Given the description of an element on the screen output the (x, y) to click on. 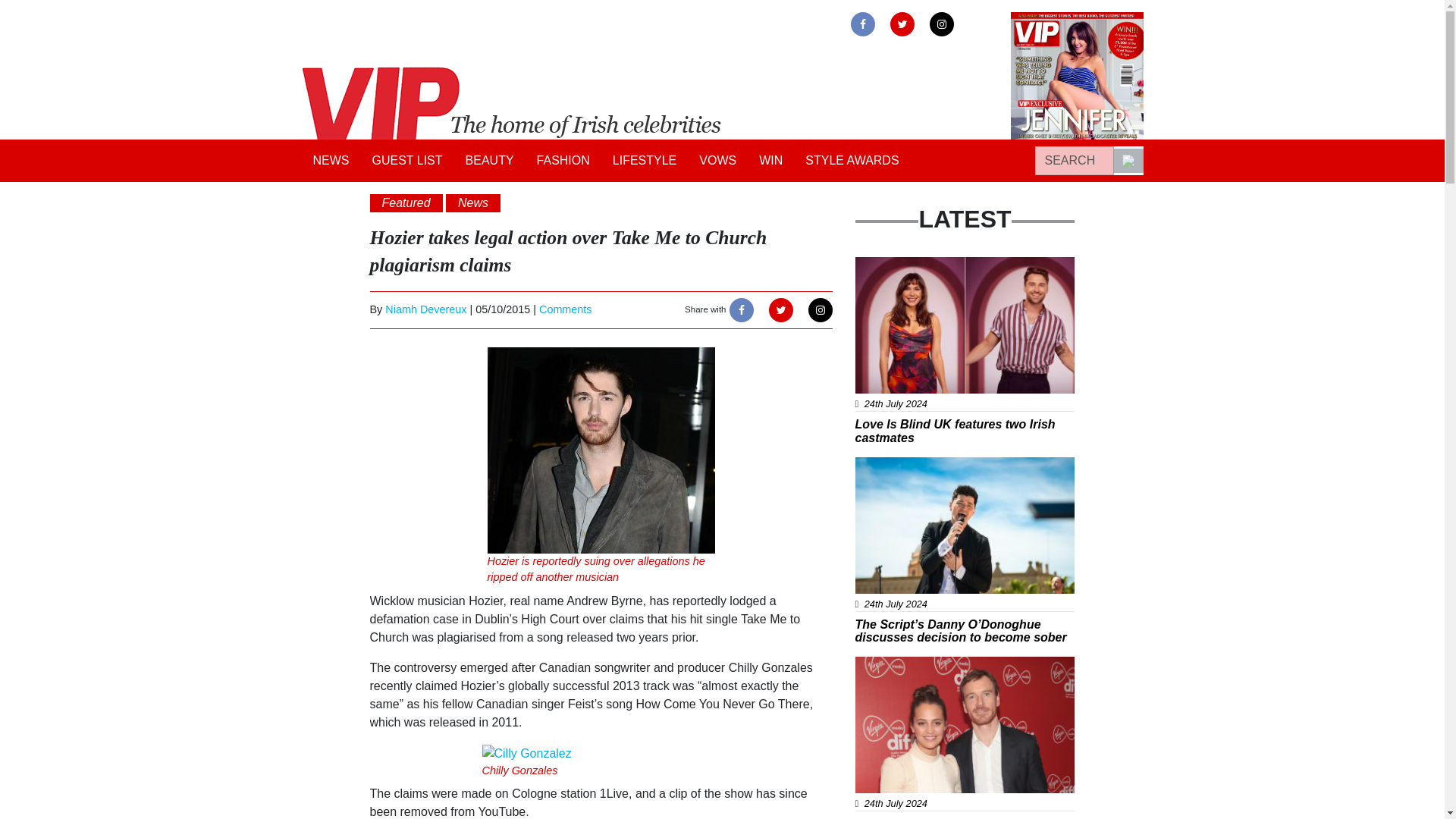
BEAUTY (489, 160)
LIFESTYLE (644, 160)
GUEST LIST (407, 160)
News (472, 203)
Comments (565, 309)
Niamh Devereux (425, 309)
Featured (405, 203)
WIN (770, 160)
FASHION (563, 160)
STYLE AWARDS (851, 160)
VOWS (717, 160)
NEWS (331, 160)
